Given the description of an element on the screen output the (x, y) to click on. 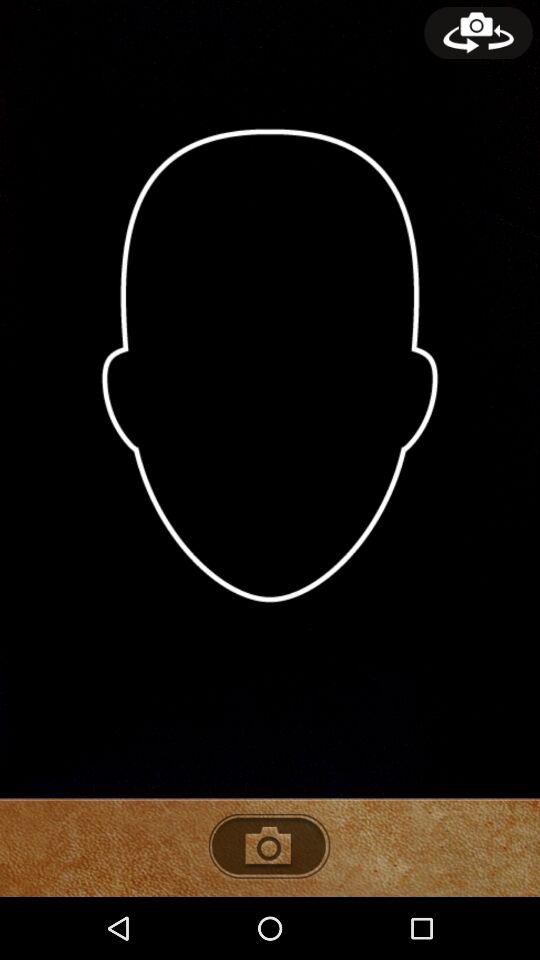
switch camera (478, 33)
